Given the description of an element on the screen output the (x, y) to click on. 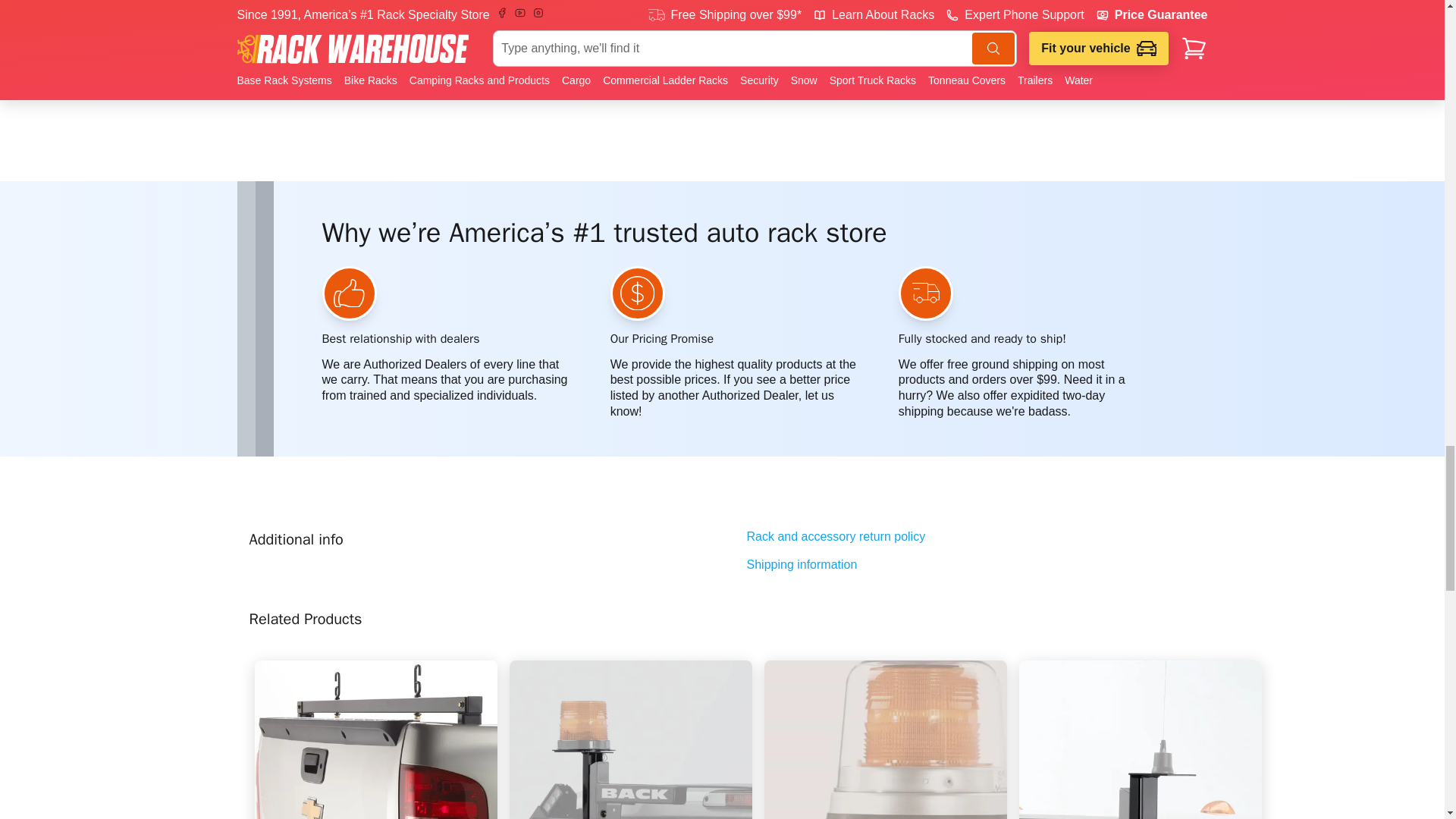
Shipping information (970, 565)
Rack and accessory return policy (970, 537)
